Given the description of an element on the screen output the (x, y) to click on. 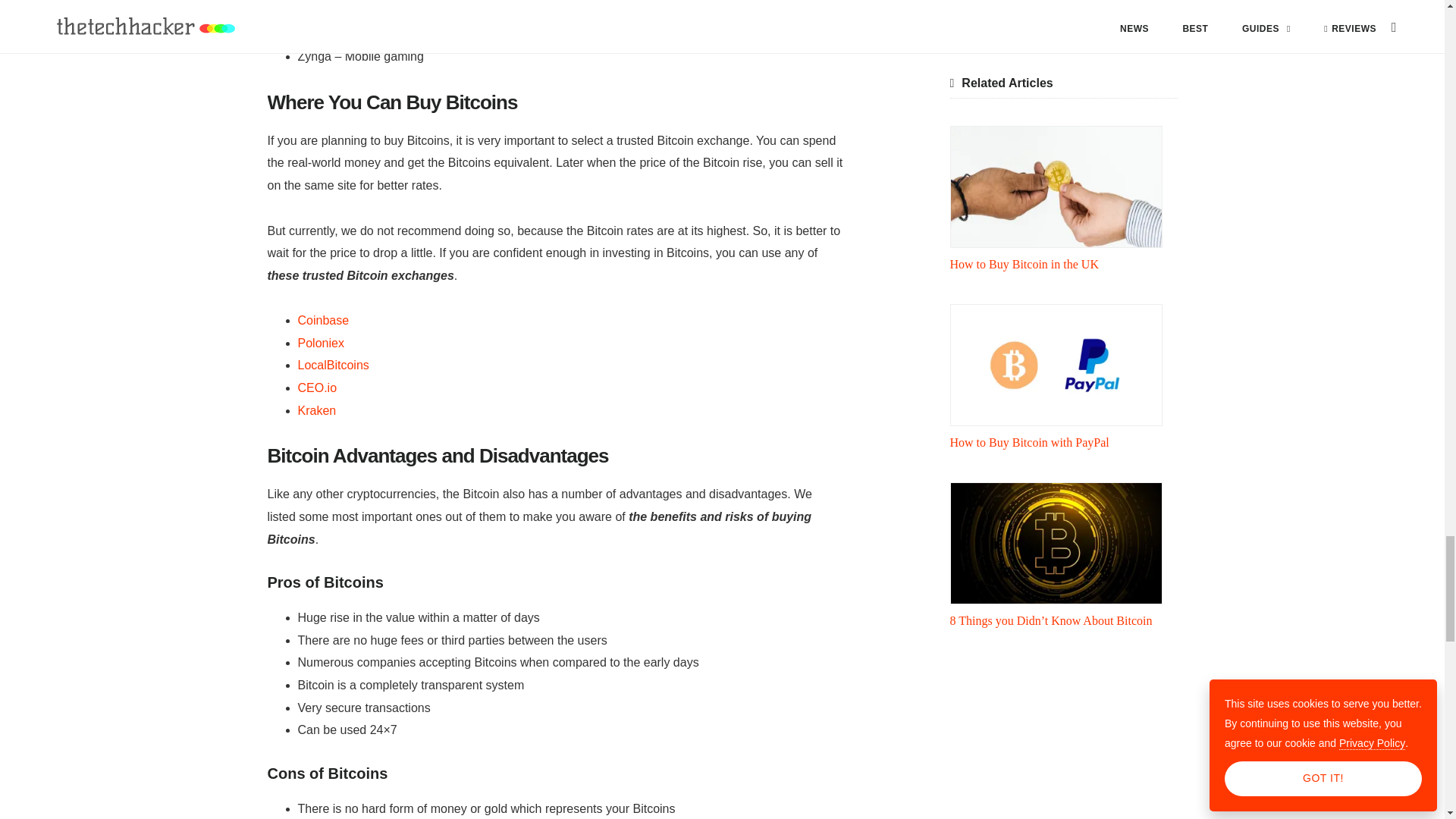
Poloniex (320, 342)
LocalBitcoins (332, 364)
Coinbase (323, 319)
Kraken (316, 410)
CEO.io (316, 387)
